Given the description of an element on the screen output the (x, y) to click on. 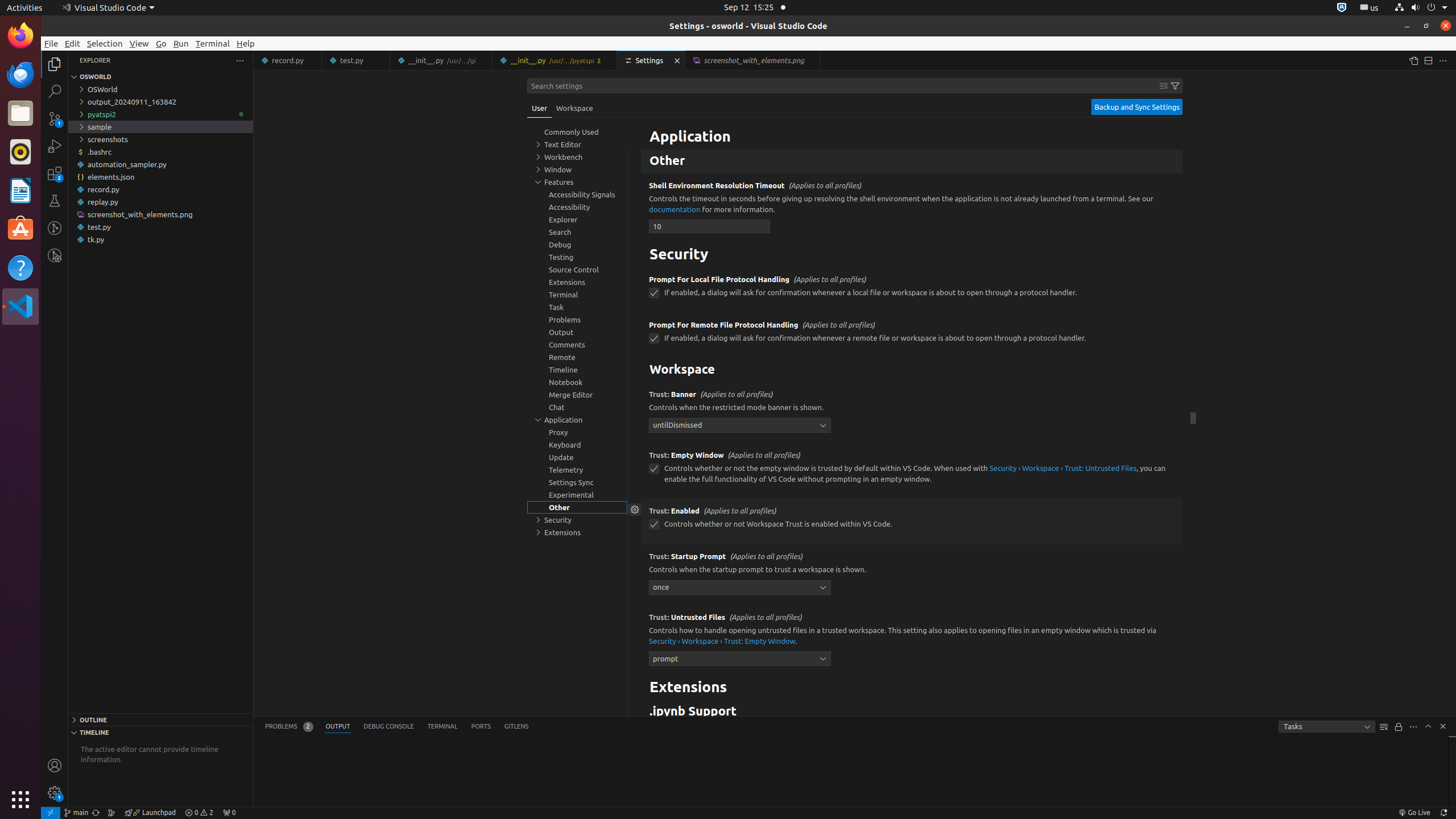
More Actions... (Shift+F9) Element type: push-button (634, 615)
once Element type: menu-item (739, 586)
